Given the description of an element on the screen output the (x, y) to click on. 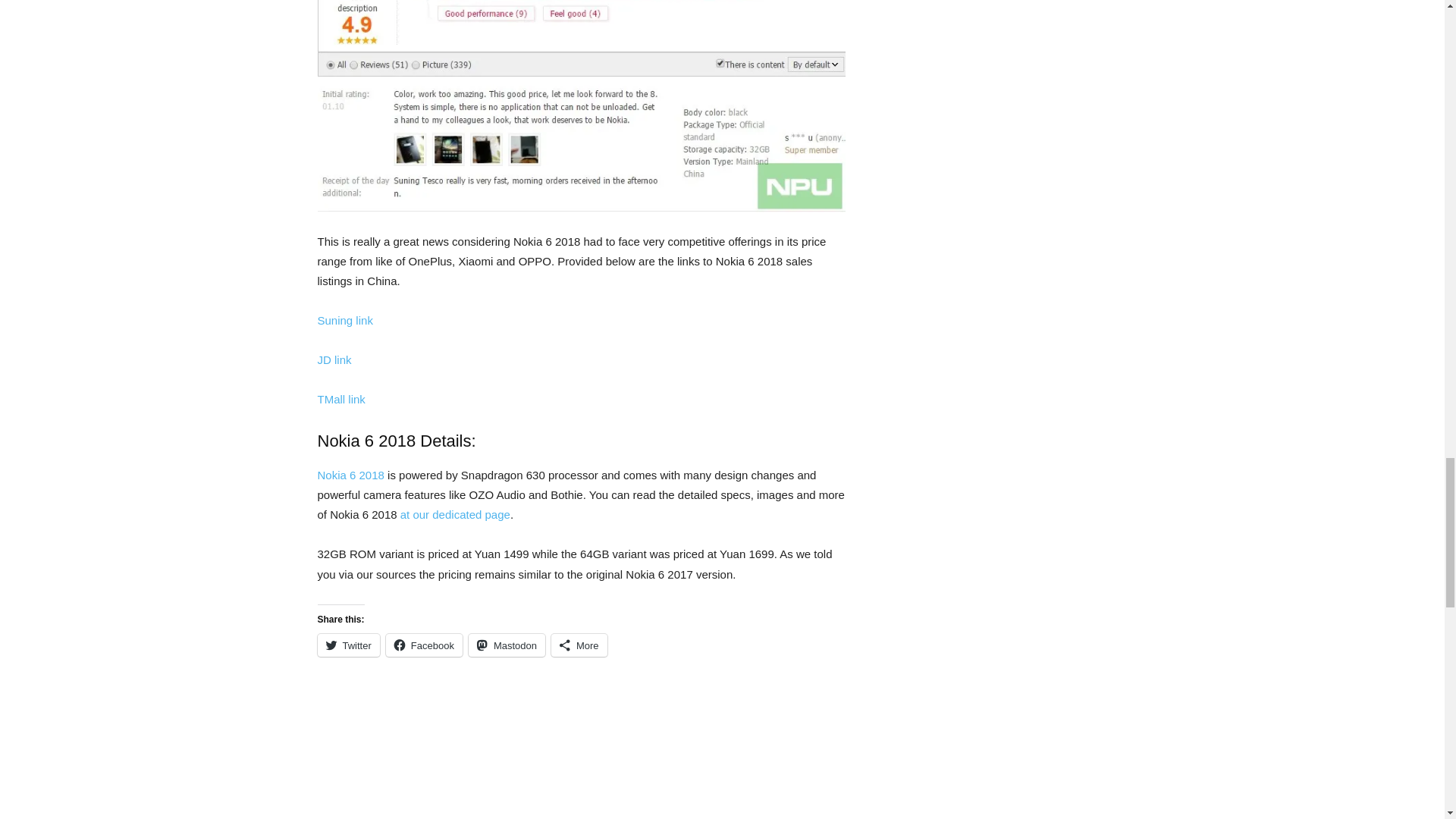
Click to share on Mastodon (506, 644)
Click to share on Twitter (347, 644)
Click to share on Facebook (424, 644)
